Given the description of an element on the screen output the (x, y) to click on. 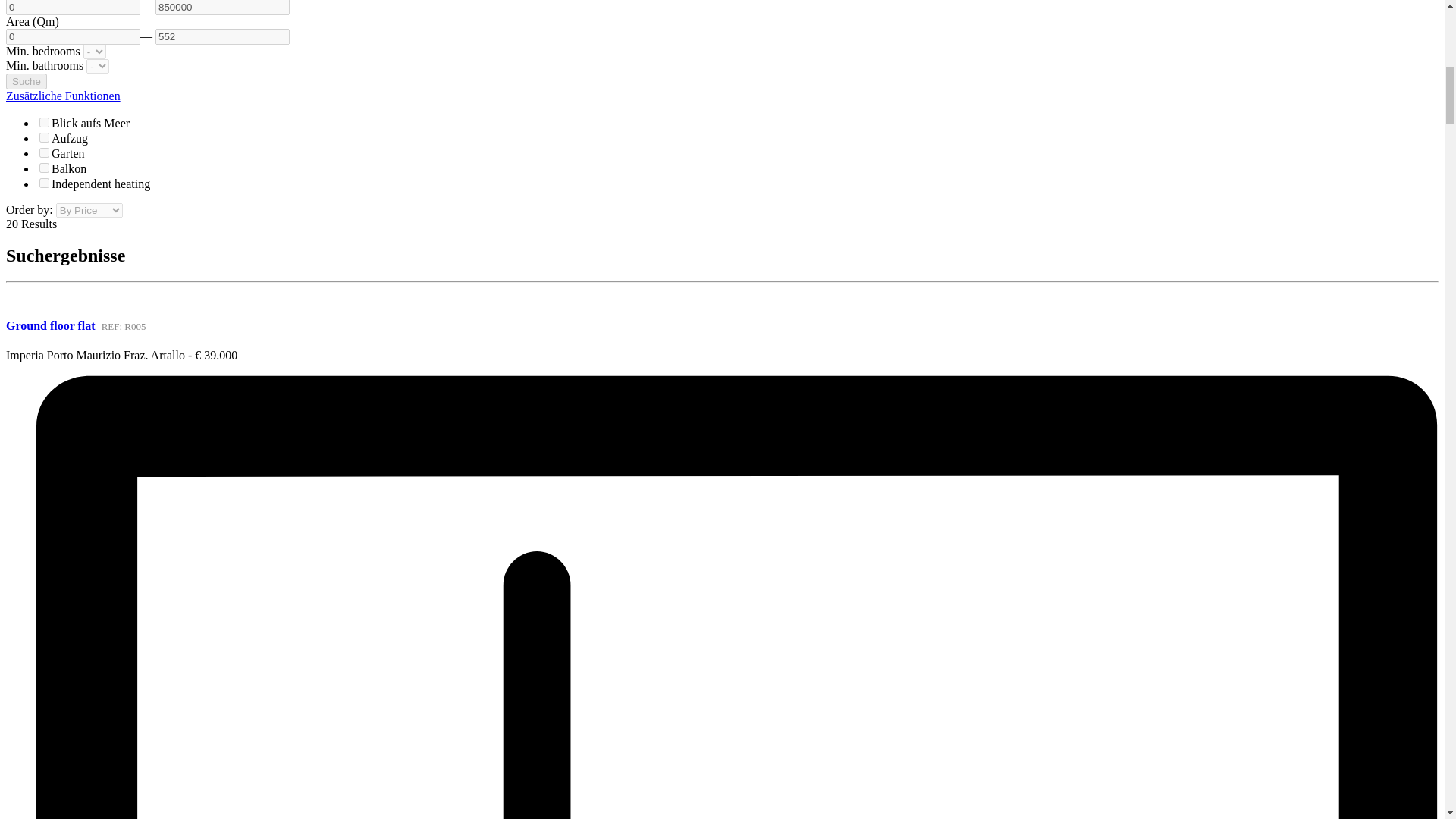
0 (72, 7)
S (44, 153)
552 (222, 36)
S (44, 122)
S (44, 167)
850000 (222, 7)
S (44, 183)
0 (72, 36)
S (44, 137)
